Given the description of an element on the screen output the (x, y) to click on. 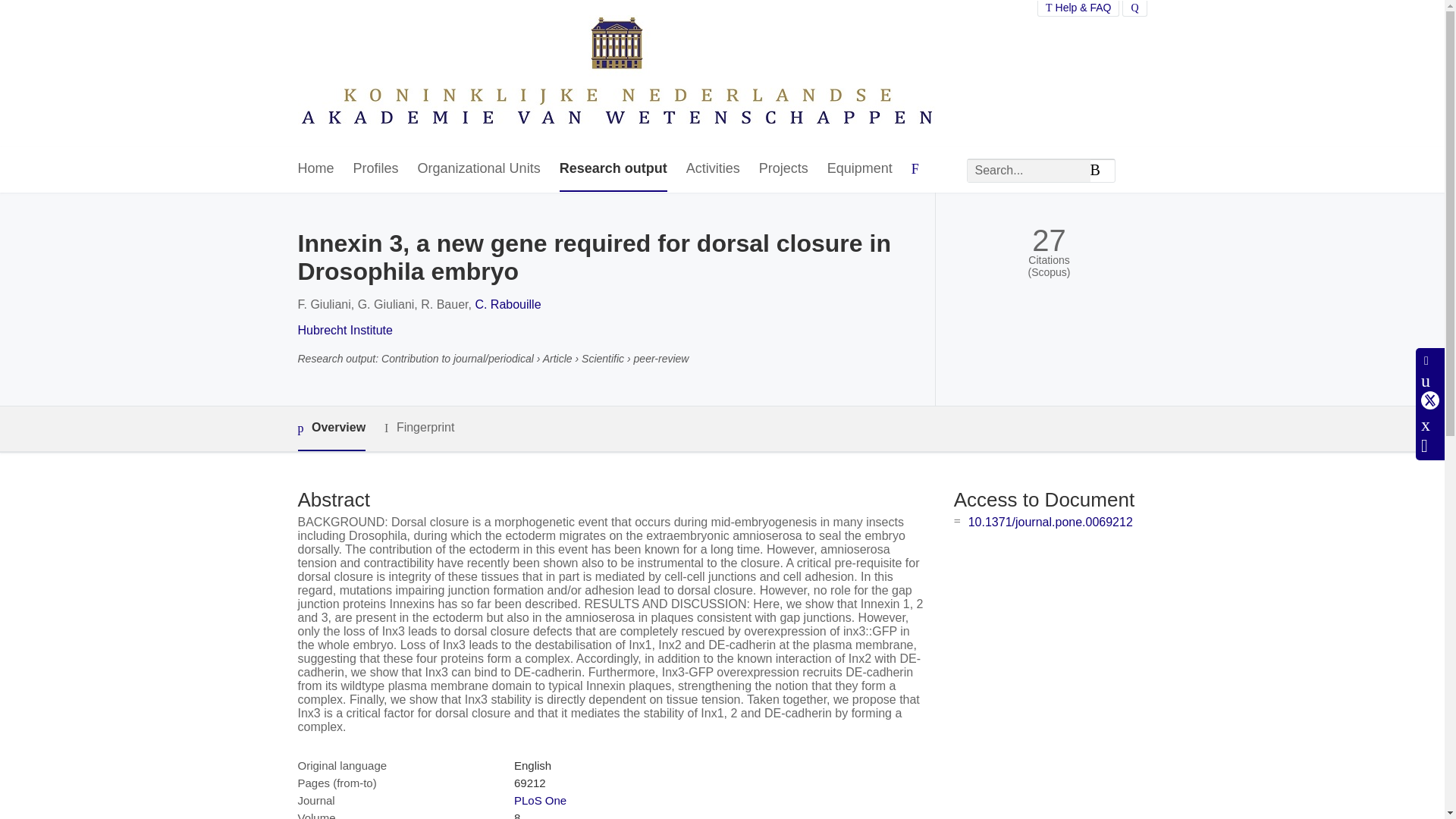
Projects (783, 169)
Activities (712, 169)
Profiles (375, 169)
C. Rabouille (507, 304)
Equipment (859, 169)
Overview (331, 428)
PLoS One (539, 799)
Hubrecht Institute (344, 329)
Research output (612, 169)
